Given the description of an element on the screen output the (x, y) to click on. 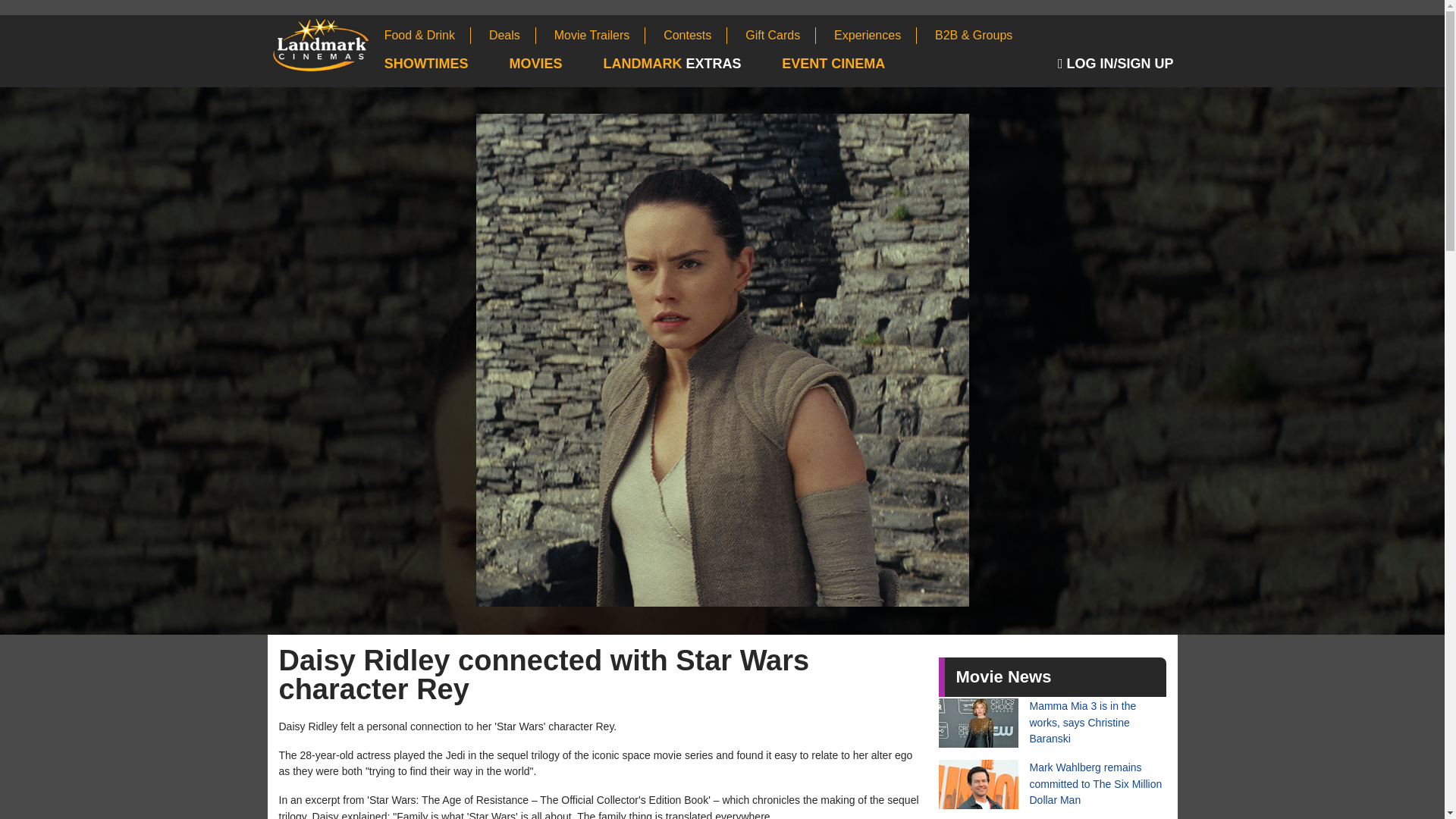
Movie Trailers (600, 35)
Event Cinema (852, 64)
Deals (512, 35)
SHOWTIMES (445, 64)
Browse Movies Now Playing (554, 64)
Contests (694, 35)
Movie Experiences and PLF (875, 35)
Sign In to your Landmark Cinemas Account (1117, 64)
Movie Contests (694, 35)
Experiences (875, 35)
